Given the description of an element on the screen output the (x, y) to click on. 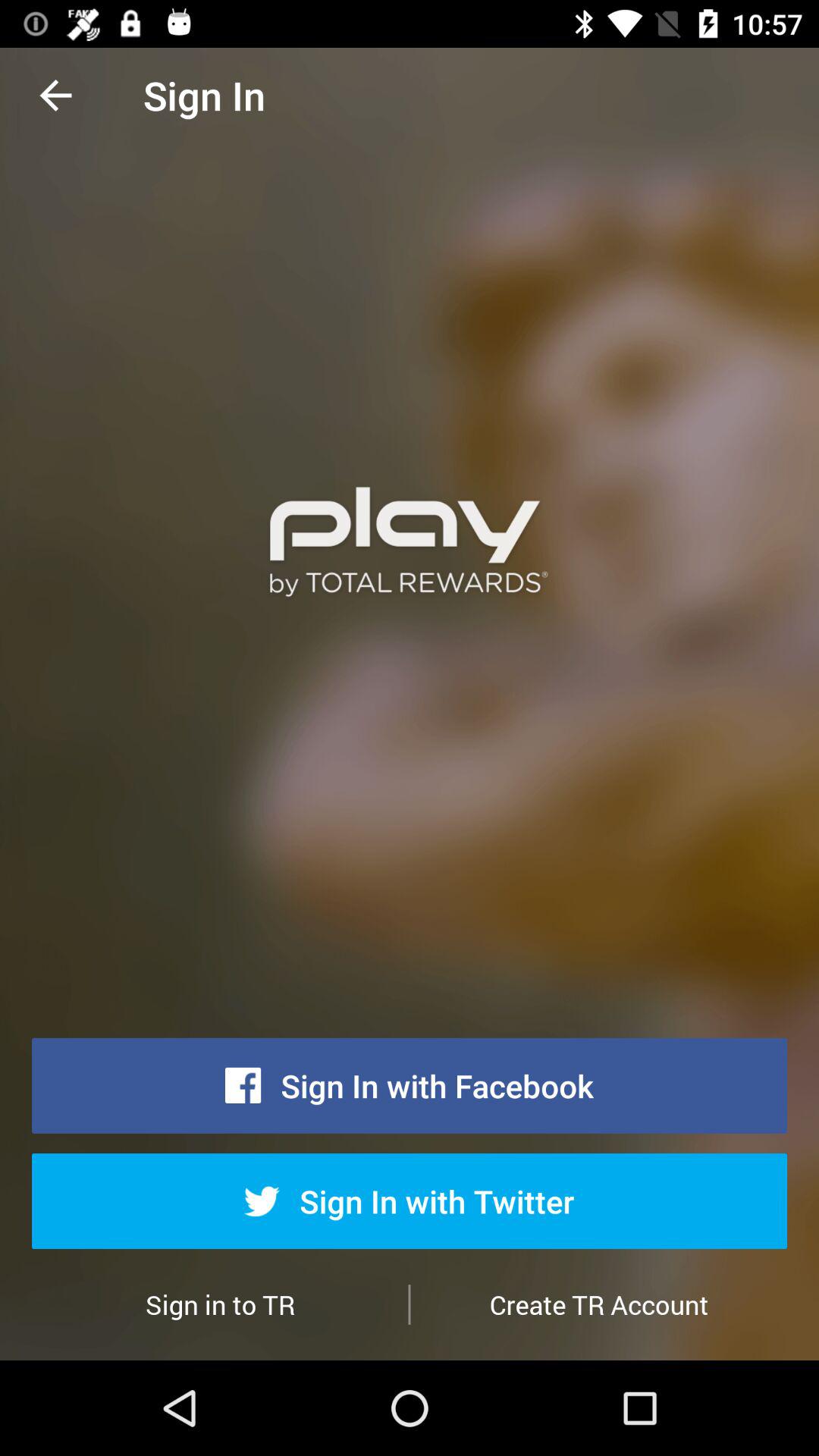
open item below sign in with item (598, 1304)
